Given the description of an element on the screen output the (x, y) to click on. 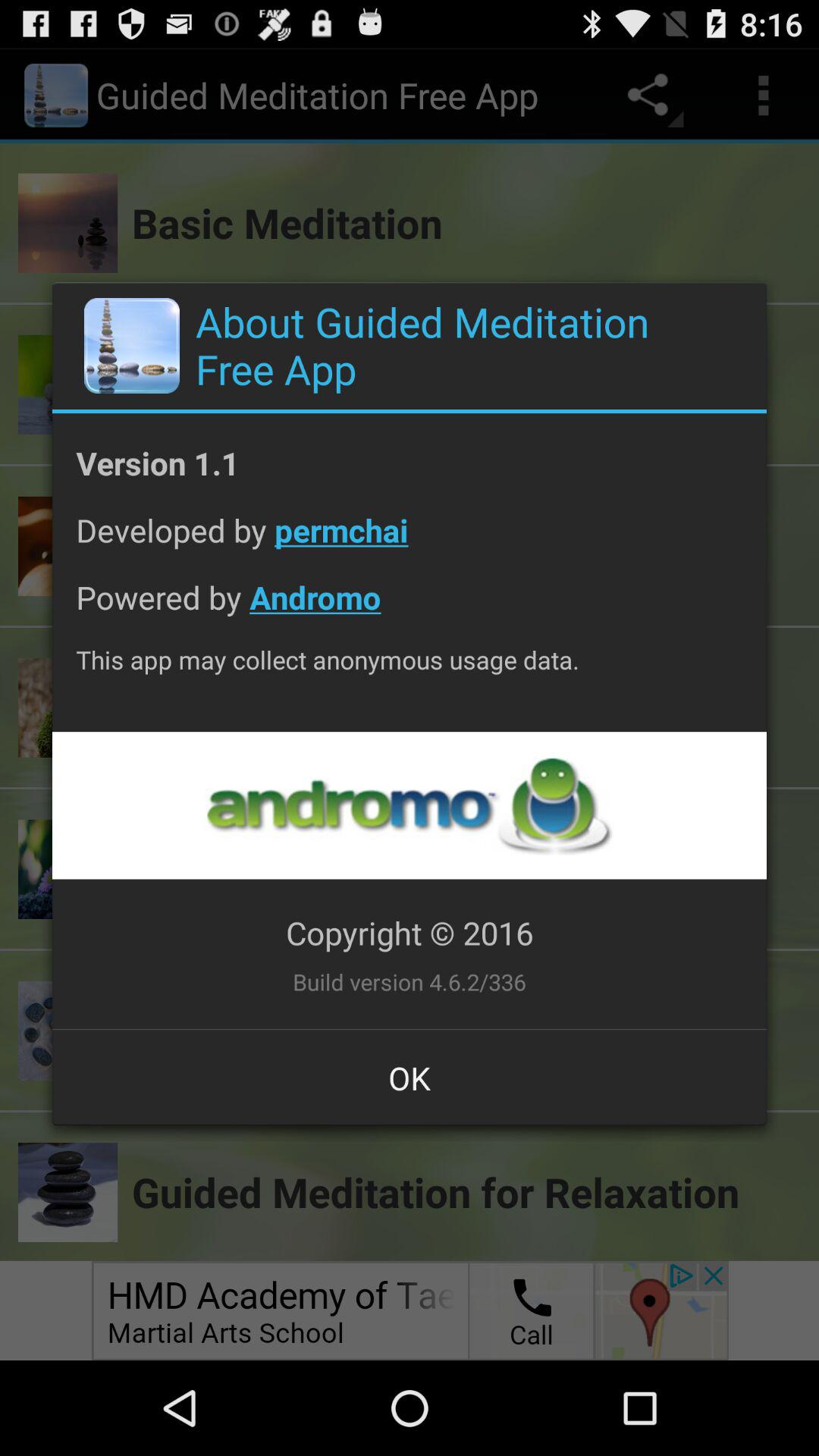
go to developer 's site (408, 805)
